Given the description of an element on the screen output the (x, y) to click on. 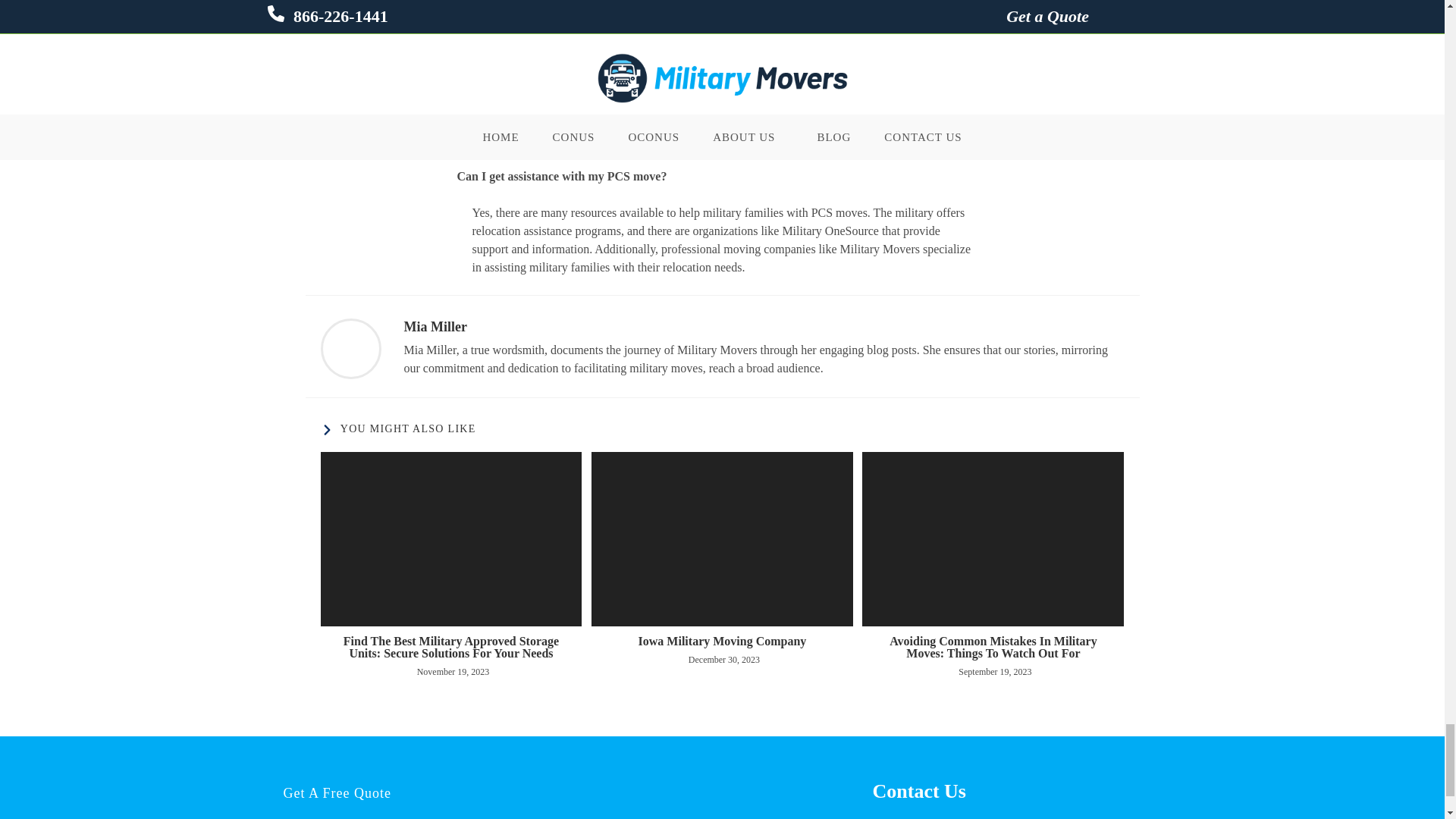
Mia Miller (434, 326)
Visit author page (434, 326)
Visit author page (350, 348)
